Given the description of an element on the screen output the (x, y) to click on. 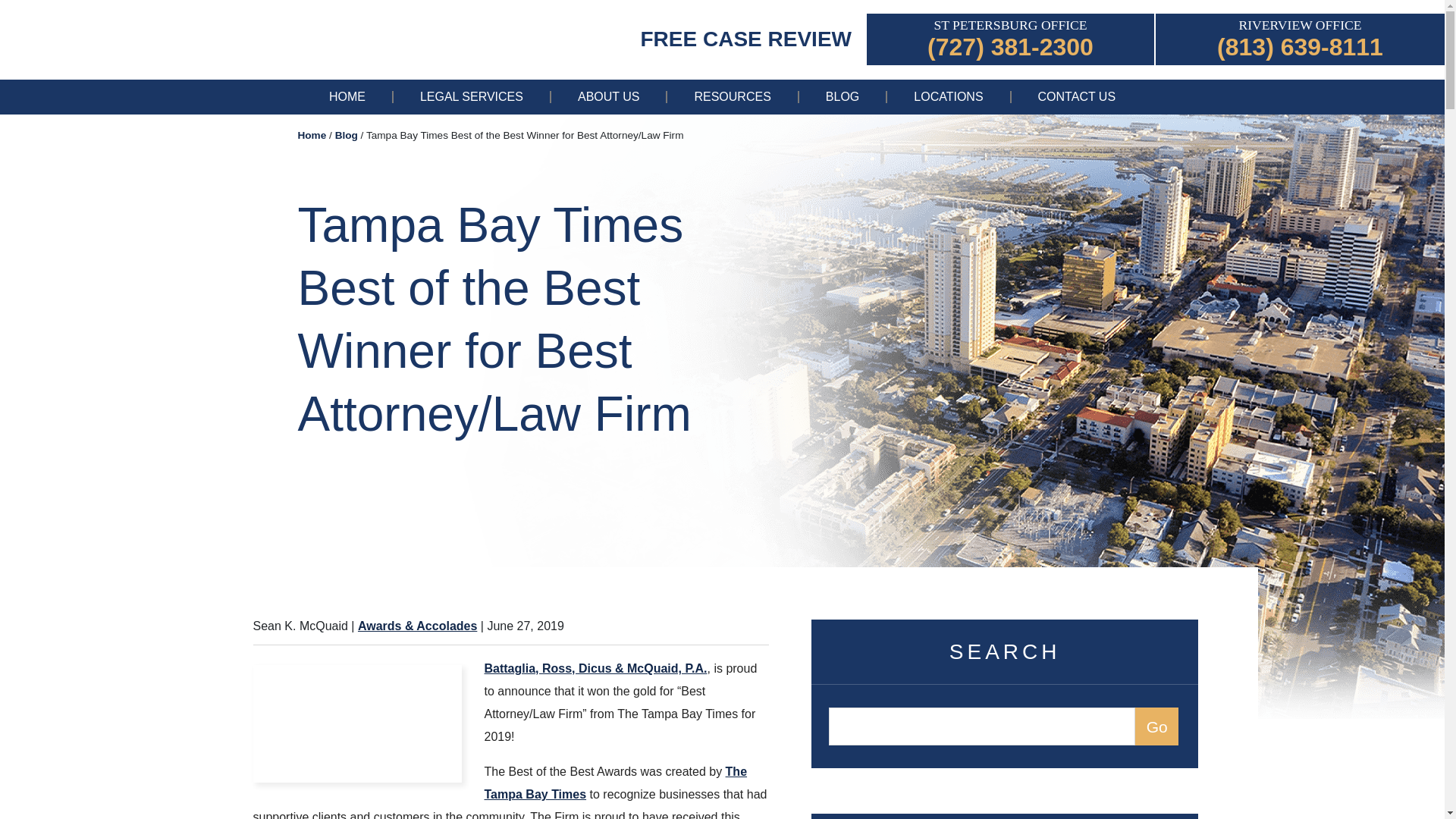
ABOUT US (608, 96)
LEGAL SERVICES (471, 96)
Go (1156, 726)
FREE CASE REVIEW (745, 38)
RESOURCES (731, 96)
BLOG (842, 96)
HOME (346, 96)
